Given the description of an element on the screen output the (x, y) to click on. 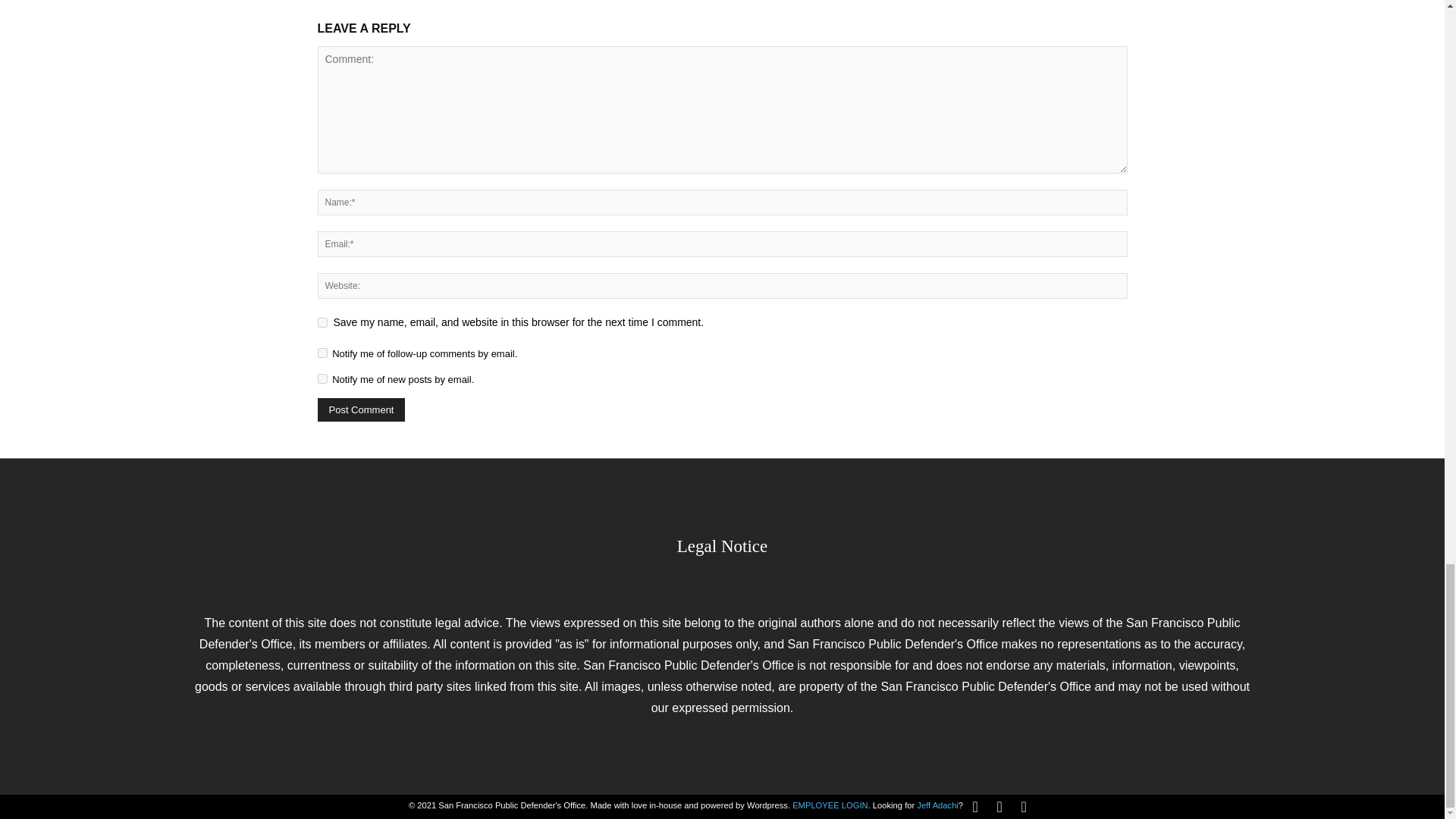
subscribe (321, 378)
Post Comment (360, 409)
subscribe (321, 352)
yes (321, 322)
